Given the description of an element on the screen output the (x, y) to click on. 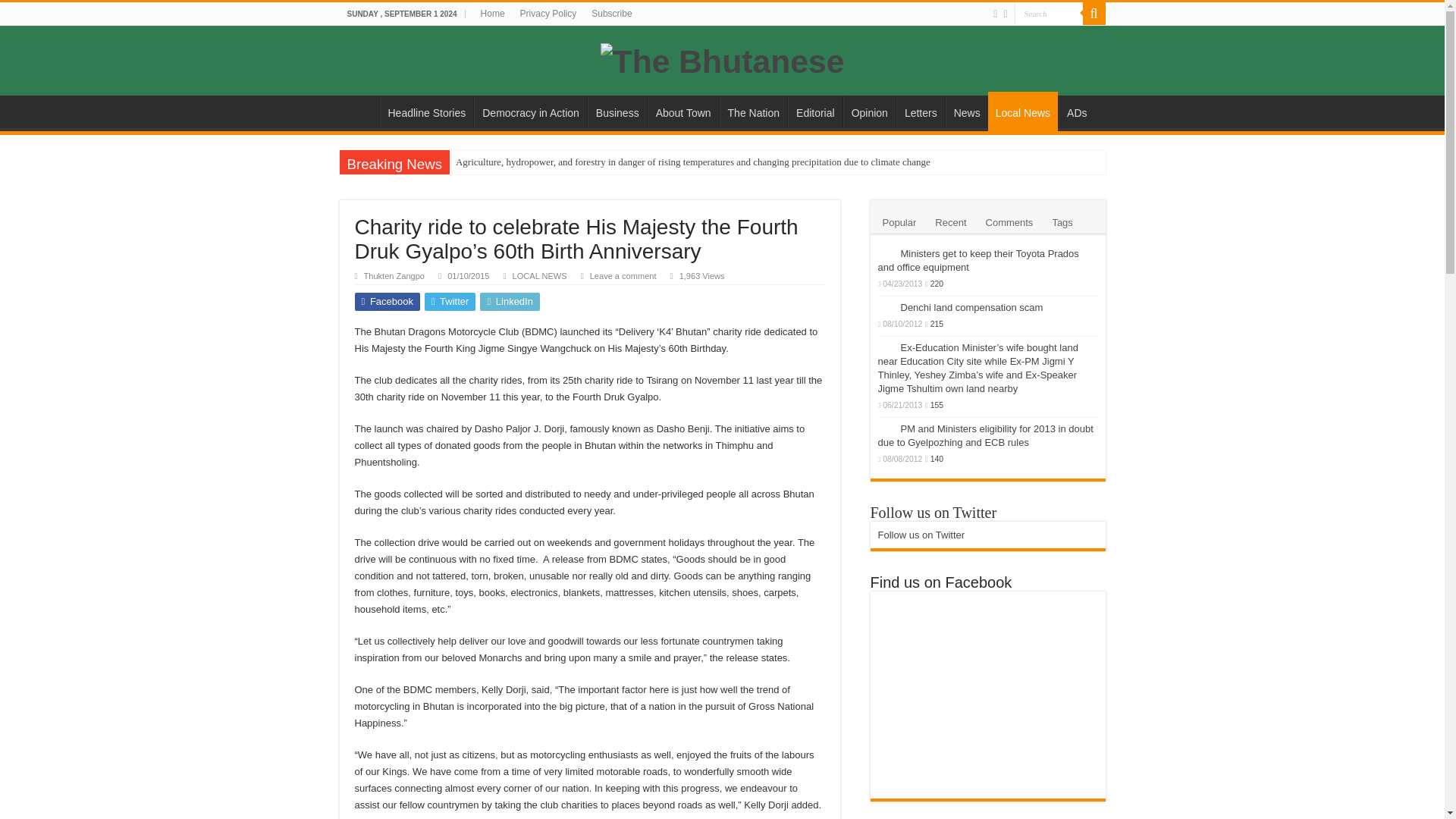
Business (617, 111)
LOCAL NEWS (539, 275)
Search (1048, 13)
The Bhutanese (721, 58)
Local News (1023, 111)
Home (492, 13)
News (966, 111)
Twitter (450, 301)
